Given the description of an element on the screen output the (x, y) to click on. 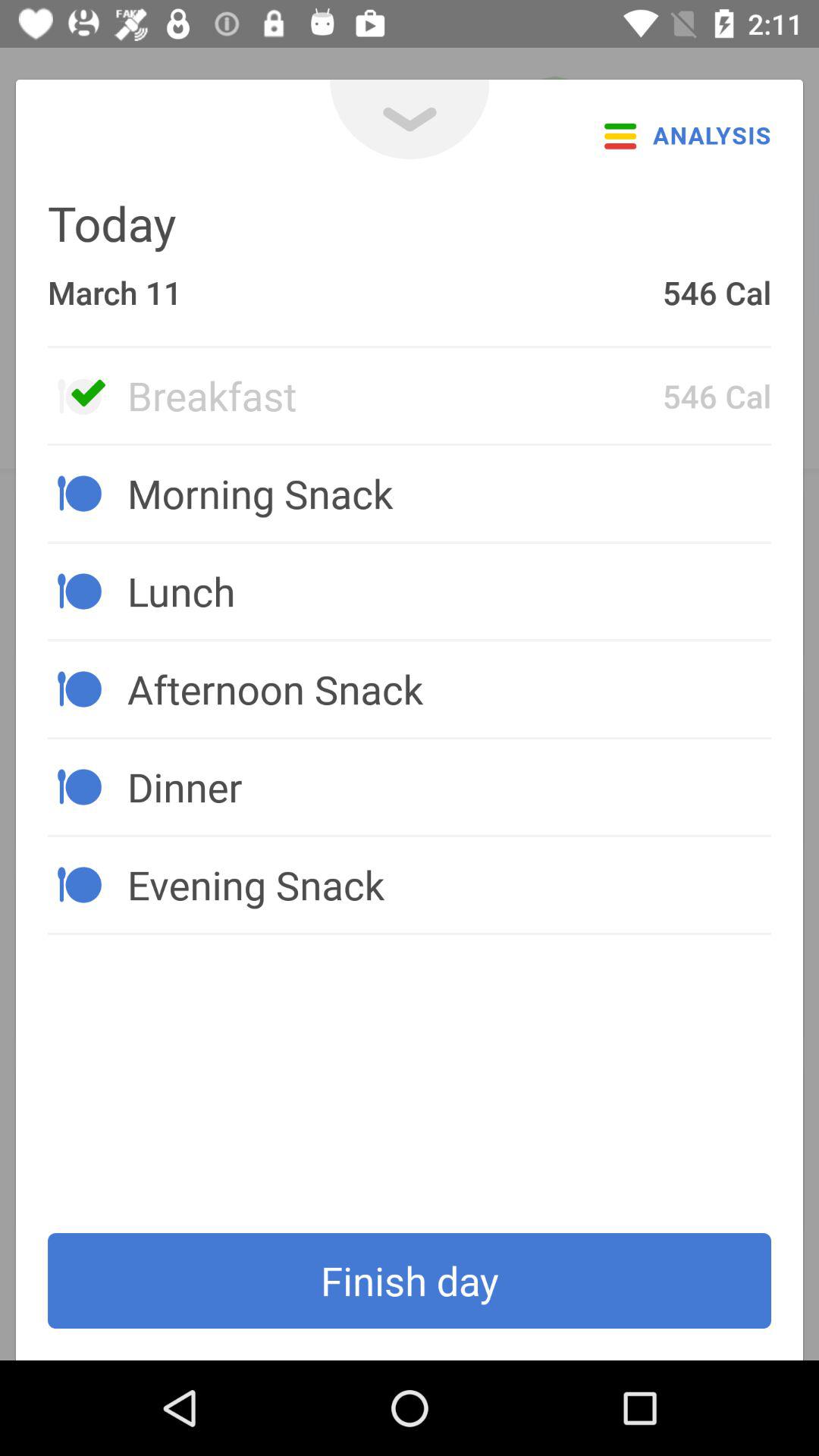
turn on morning snack (449, 492)
